Given the description of an element on the screen output the (x, y) to click on. 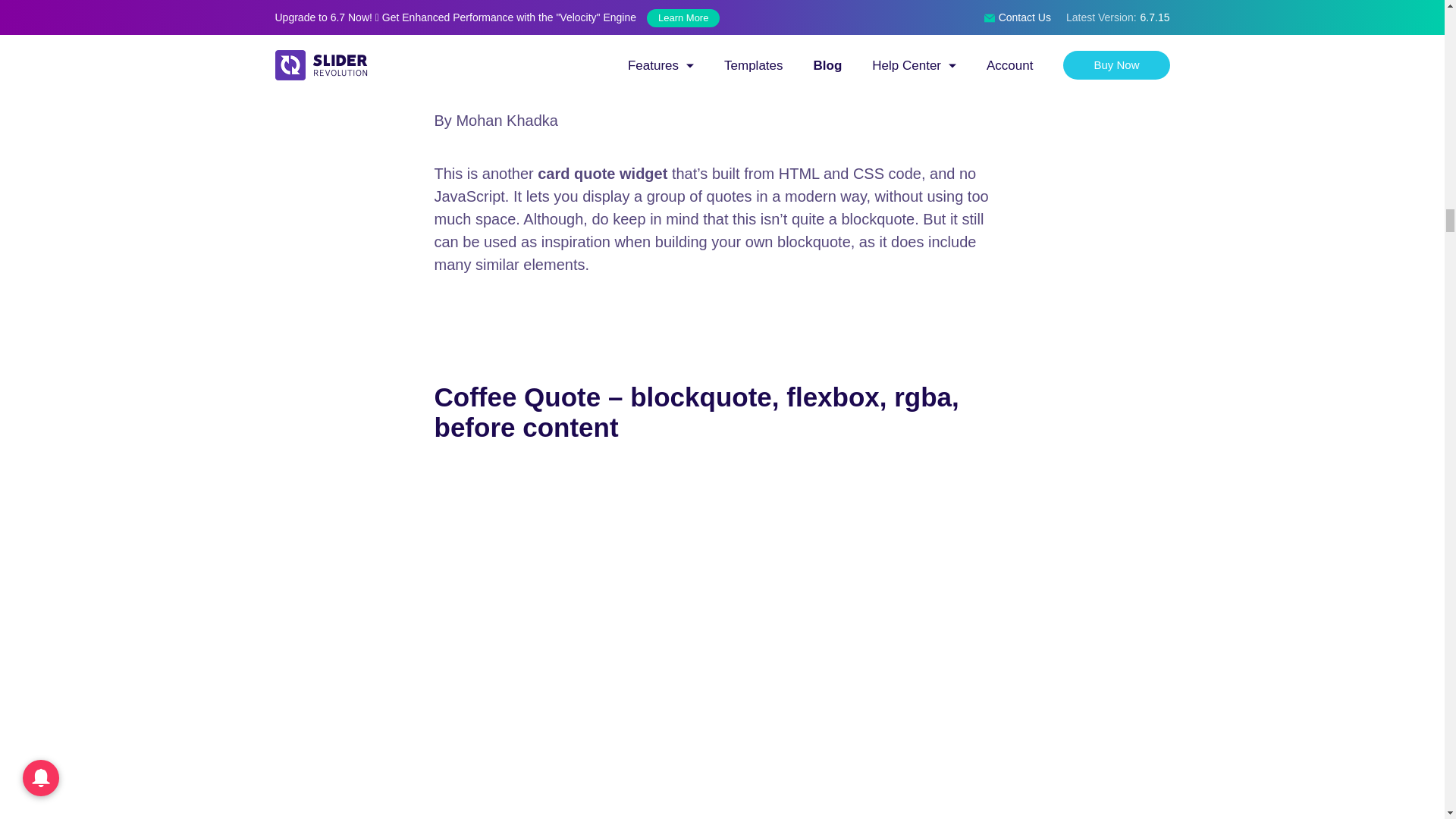
CodePen Embed eNKKwN (721, 43)
